Given the description of an element on the screen output the (x, y) to click on. 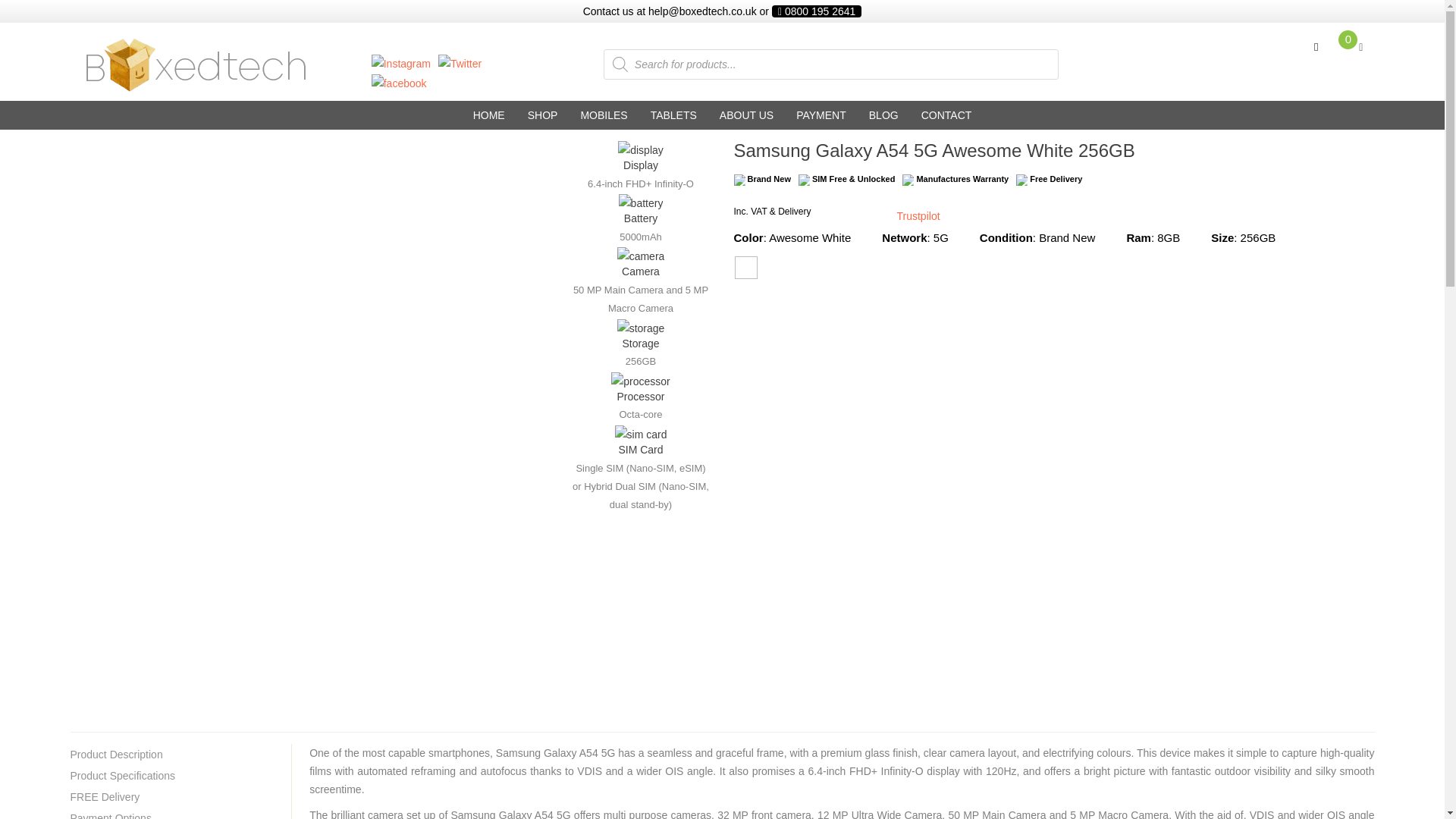
ABOUT US (745, 114)
SHOP (542, 114)
BoxedTech (107, 102)
CONTACT (947, 114)
TABLETS (673, 114)
BLOG (883, 114)
0800 195 2641 (816, 10)
Samsung Galaxy A54 5G Awesome Black 256GB (745, 267)
MOBILES (604, 114)
HOME (488, 114)
